Given the description of an element on the screen output the (x, y) to click on. 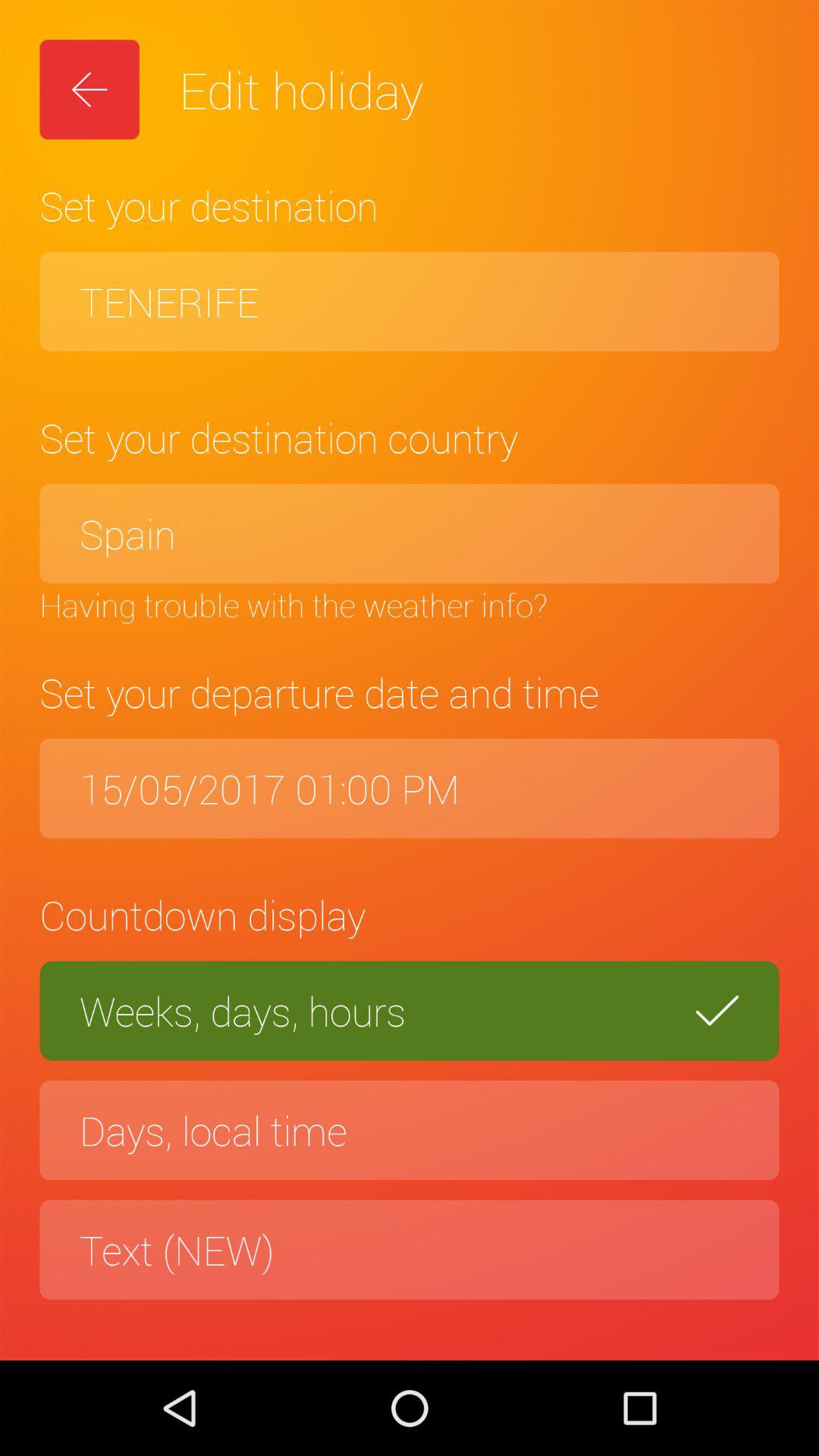
open the item next to the edit holiday icon (89, 89)
